Given the description of an element on the screen output the (x, y) to click on. 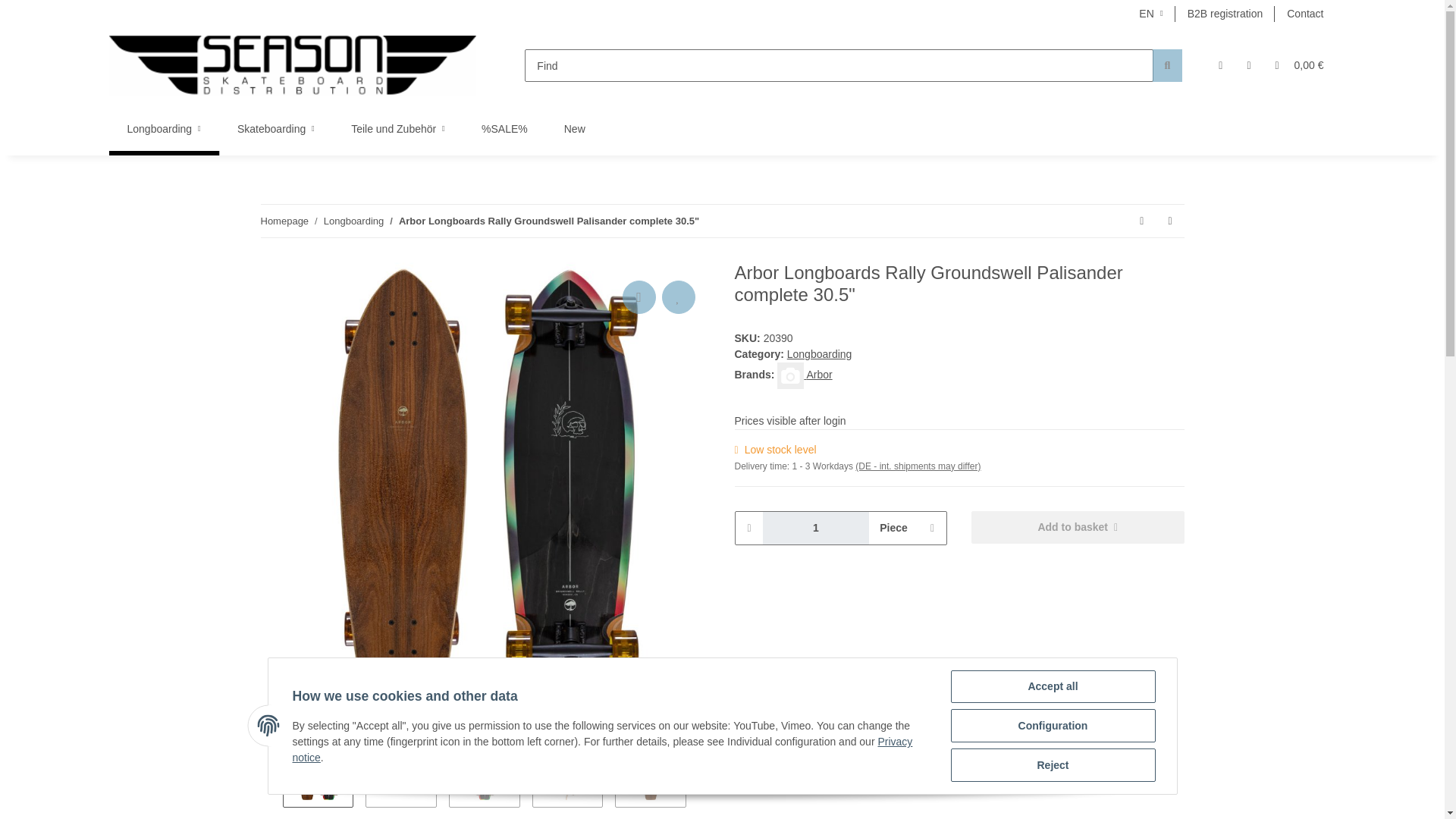
New (575, 129)
Skateboarding (276, 129)
Contact-Form (1305, 13)
1 (815, 527)
B2B registration (1224, 13)
B2B registration (1224, 13)
Contact (1305, 13)
Longboarding (164, 129)
Skateboarding (276, 129)
EN (1150, 13)
Skateboarding (276, 129)
Longboarding (164, 129)
Homepage (284, 221)
Season Distribution (293, 65)
Longboarding (353, 221)
